Given the description of an element on the screen output the (x, y) to click on. 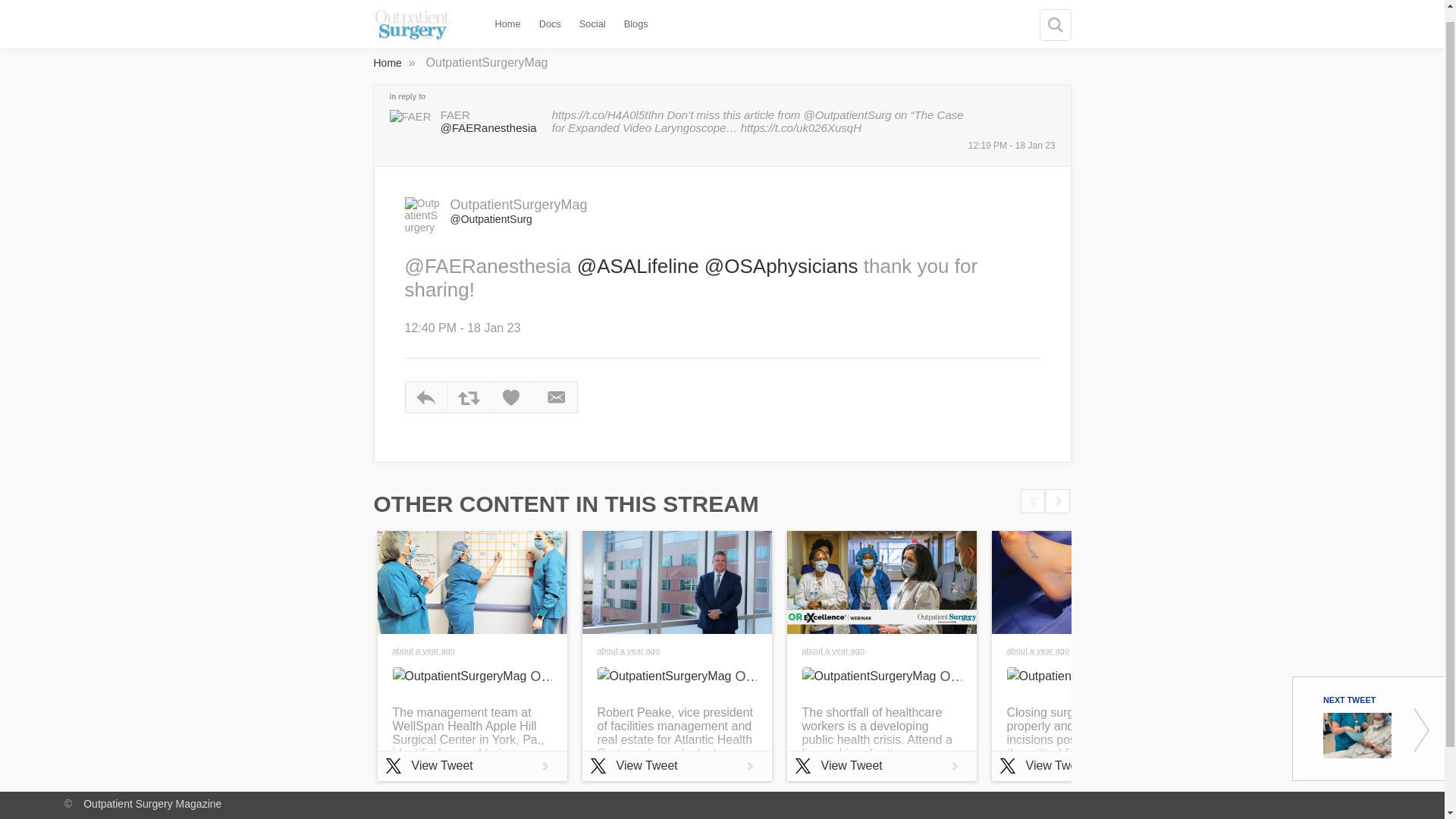
Reply (425, 397)
Retweet (469, 397)
Like (512, 397)
Email (555, 397)
Social (593, 12)
View Tweet (676, 766)
Docs (550, 12)
View Tweet (881, 766)
Blogs (635, 12)
2023-03-30T11:49:09 (833, 650)
View Tweet (472, 766)
Twitter Follow Button (1008, 207)
Like (512, 397)
Home (388, 62)
2023-03-29T11:49:08 (1038, 650)
